Given the description of an element on the screen output the (x, y) to click on. 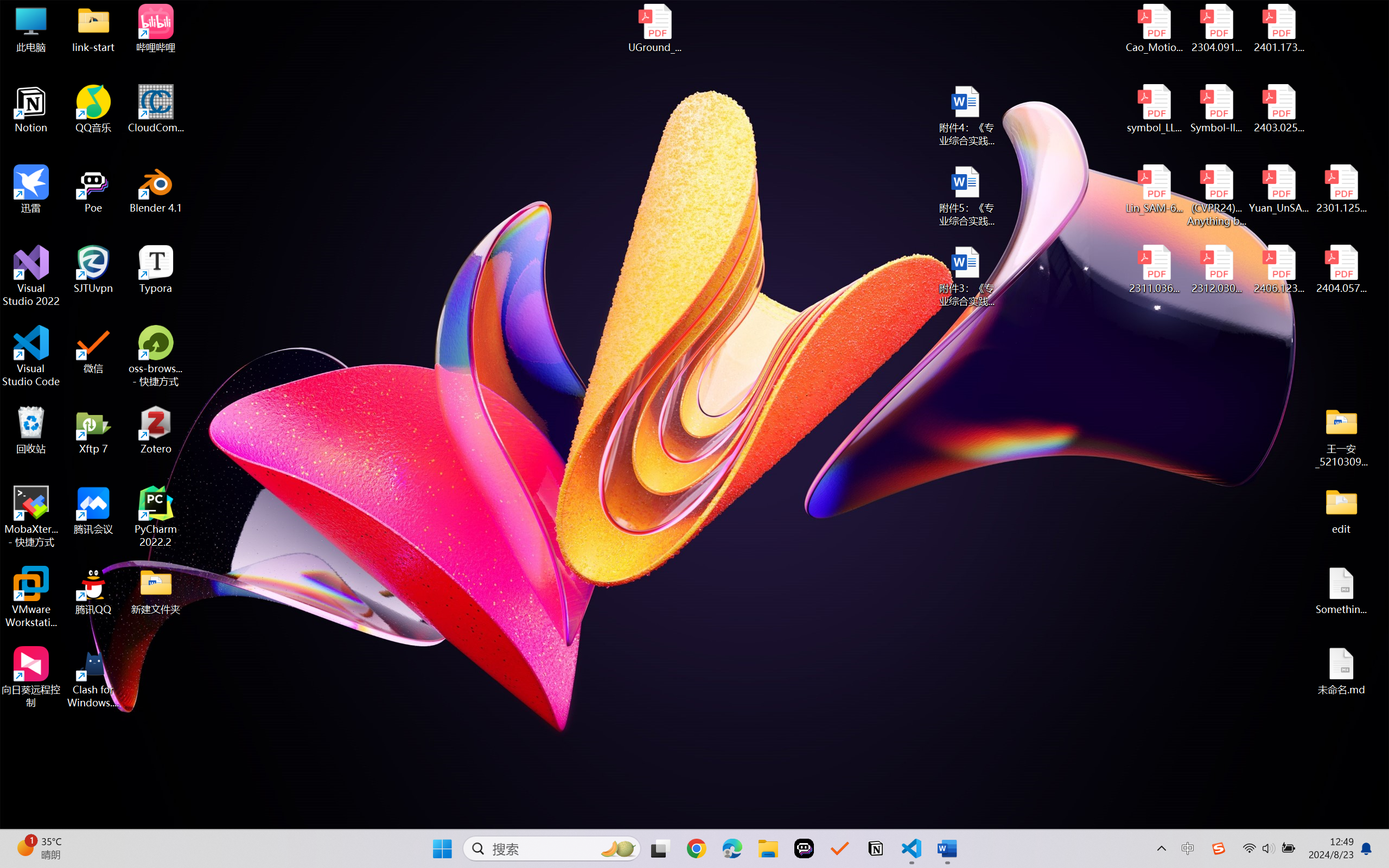
2404.05719v1.pdf (1340, 269)
Microsoft Edge (731, 848)
2401.17399v1.pdf (1278, 28)
